Given the description of an element on the screen output the (x, y) to click on. 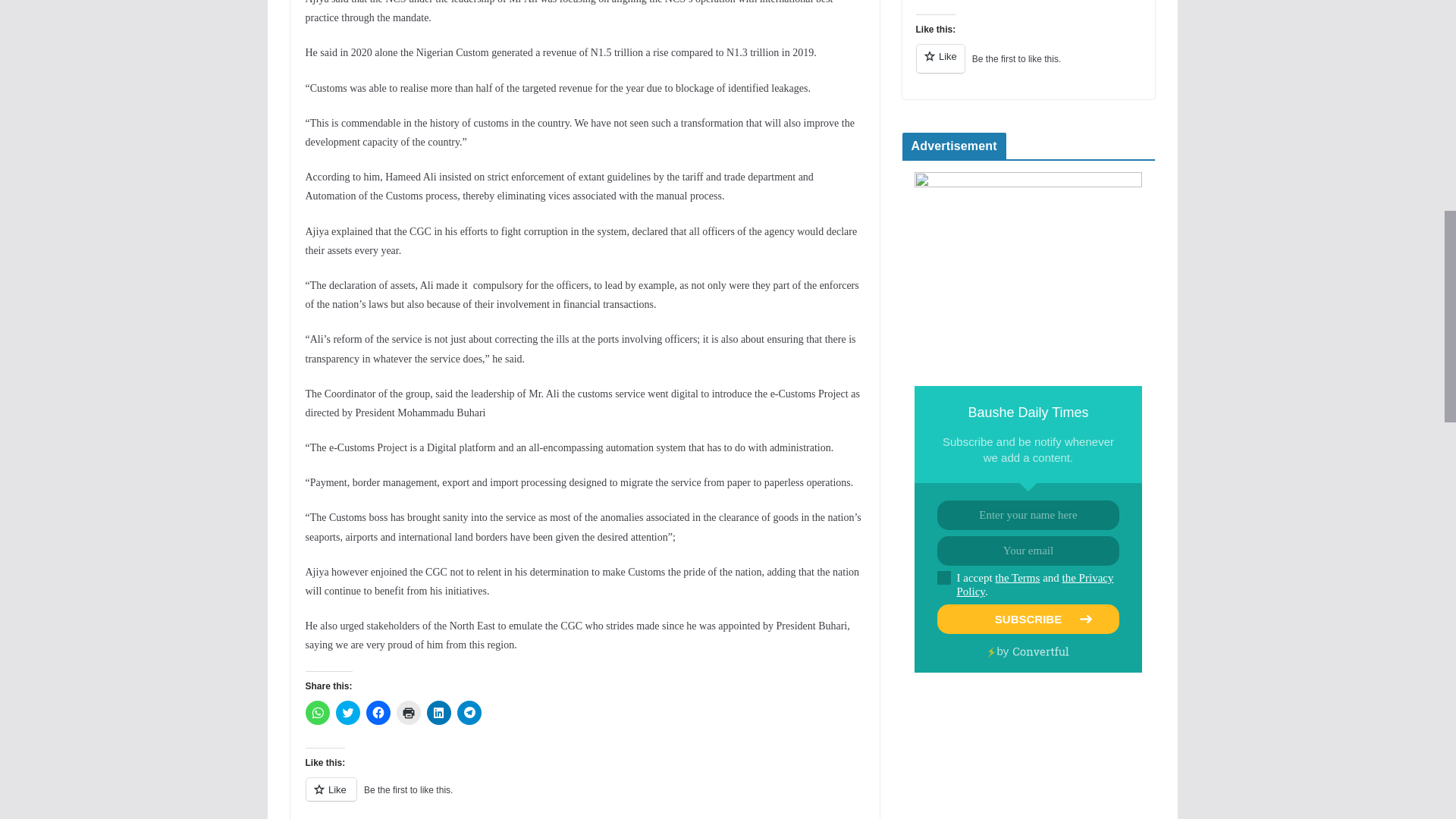
Click to share on Twitter (346, 712)
Click to print (408, 712)
Click to share on Facebook (377, 712)
Click to share on WhatsApp (316, 712)
